Given the description of an element on the screen output the (x, y) to click on. 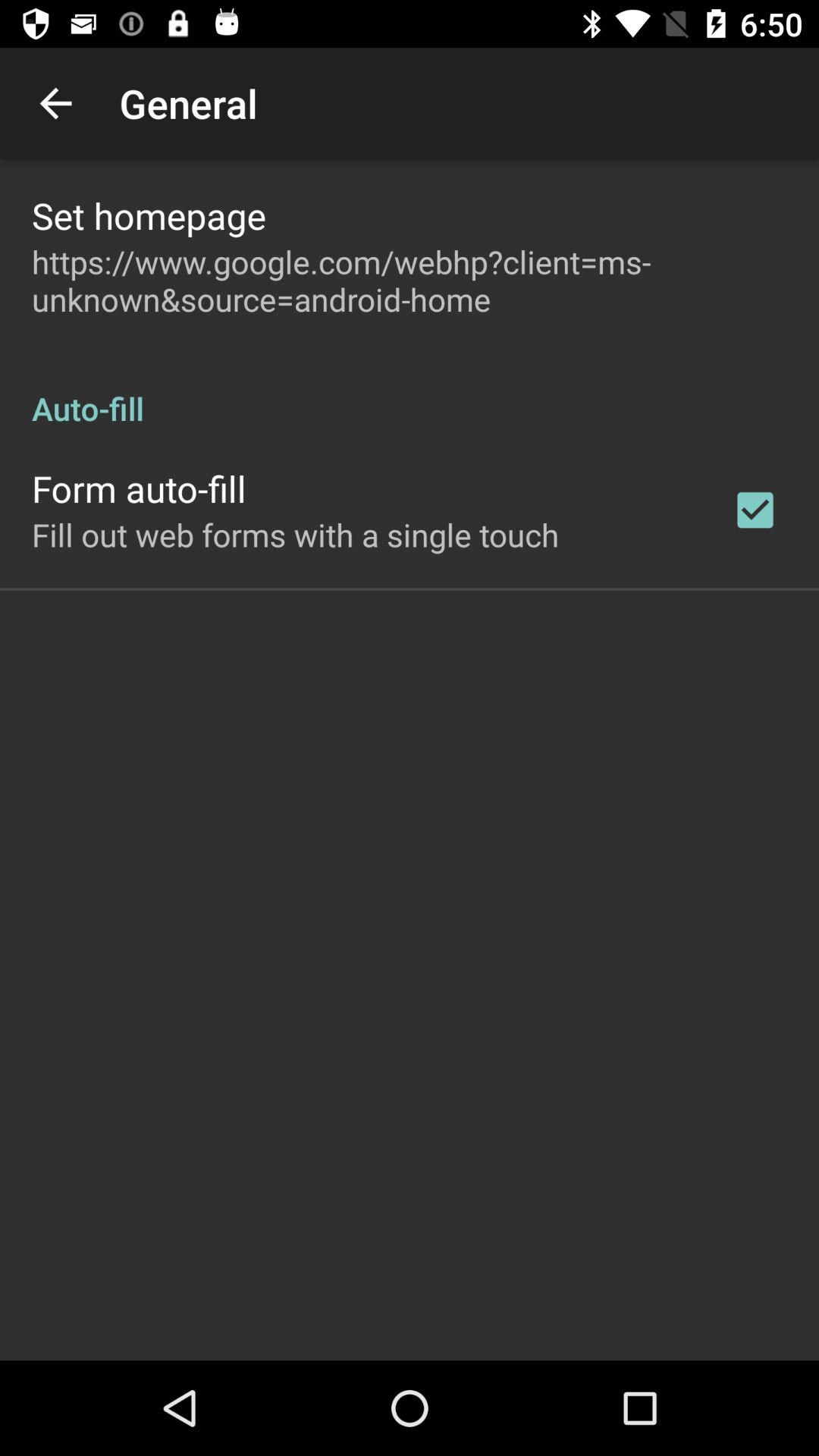
turn on the app at the center (295, 534)
